Given the description of an element on the screen output the (x, y) to click on. 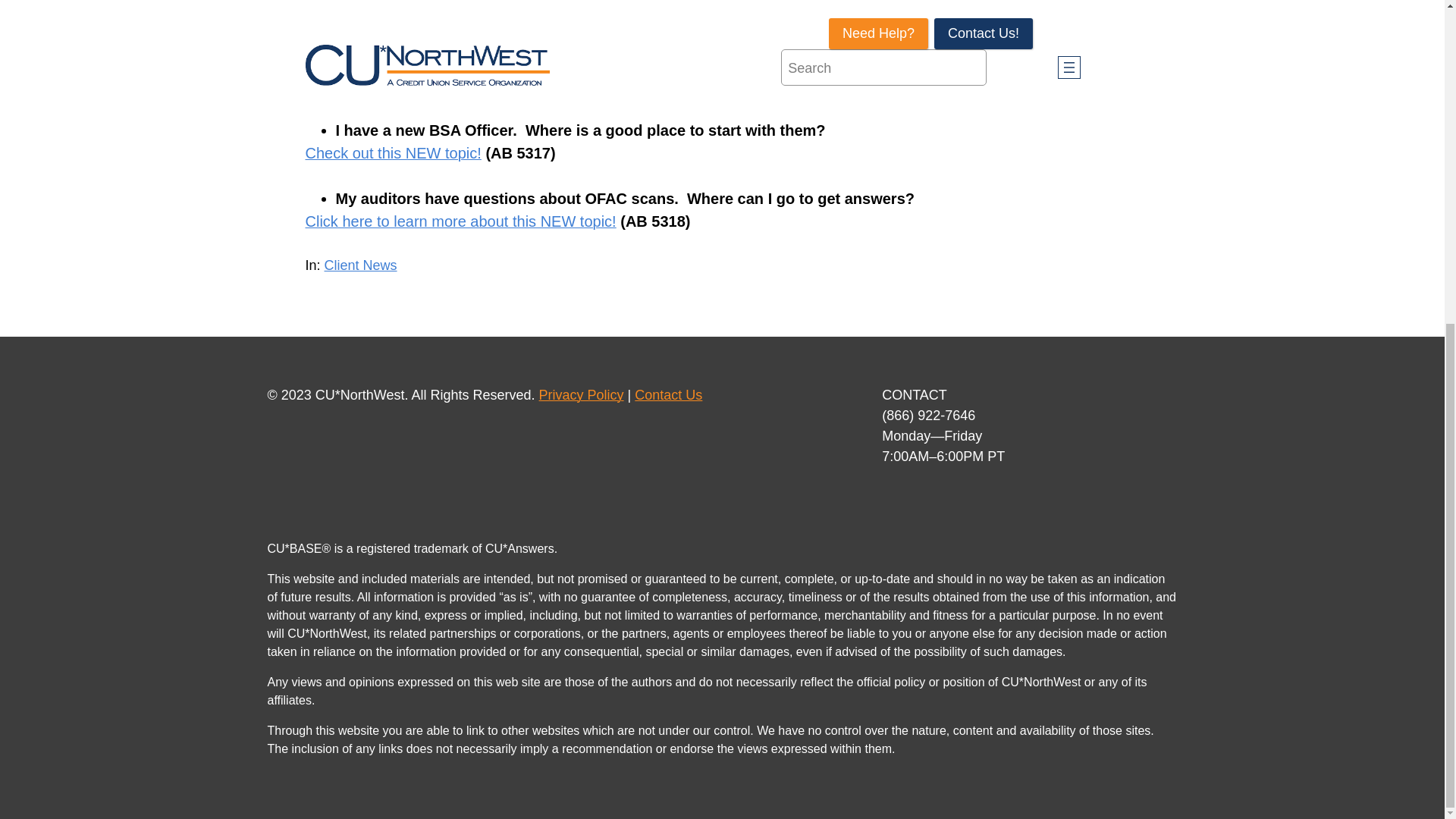
Check out this NEW topic! (392, 152)
Click here to learn more about this NEW topic! (459, 221)
Contact Us (667, 394)
Privacy Policy (581, 394)
Client News (360, 264)
